Given the description of an element on the screen output the (x, y) to click on. 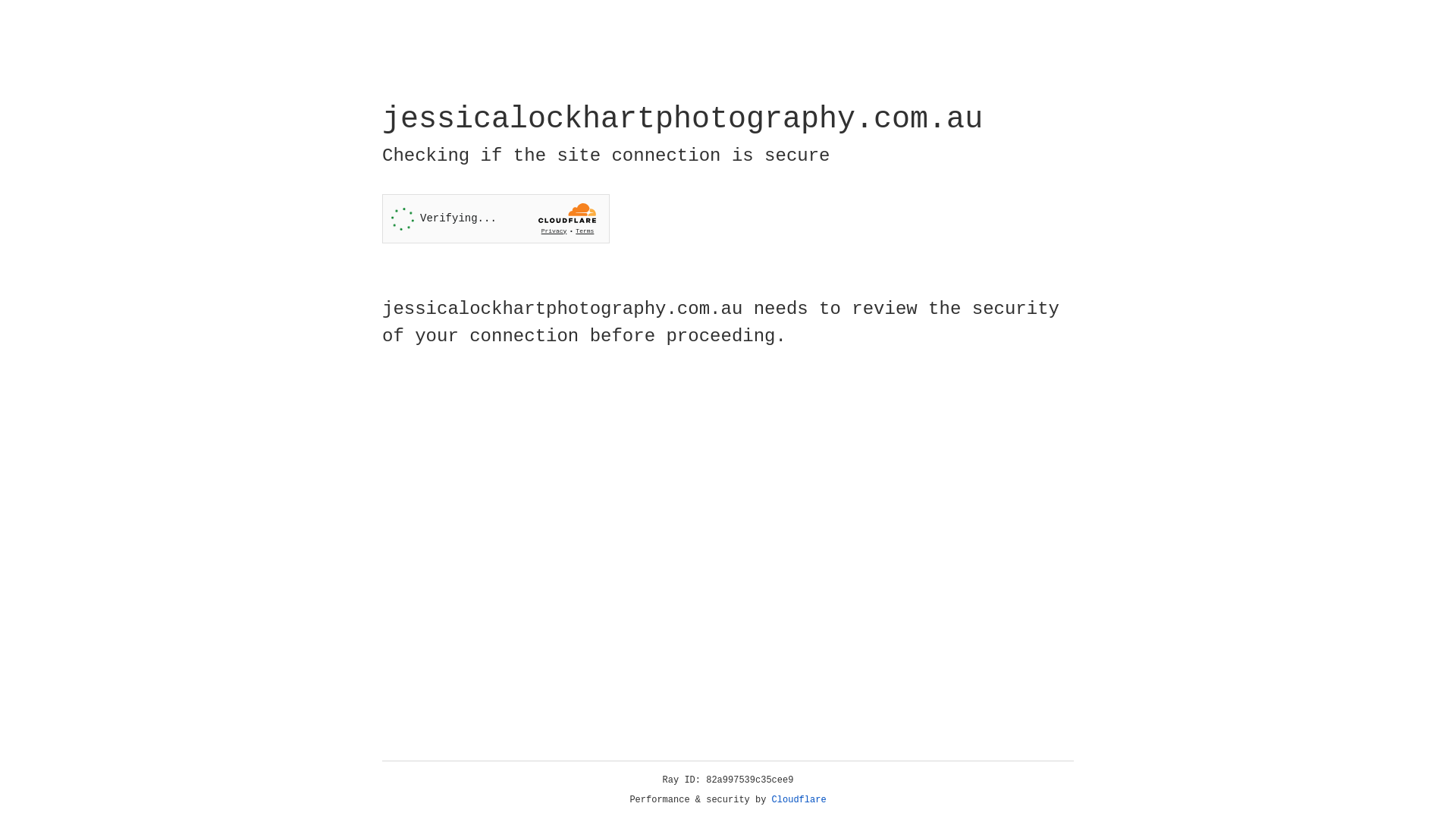
Widget containing a Cloudflare security challenge Element type: hover (495, 218)
Cloudflare Element type: text (798, 799)
